Given the description of an element on the screen output the (x, y) to click on. 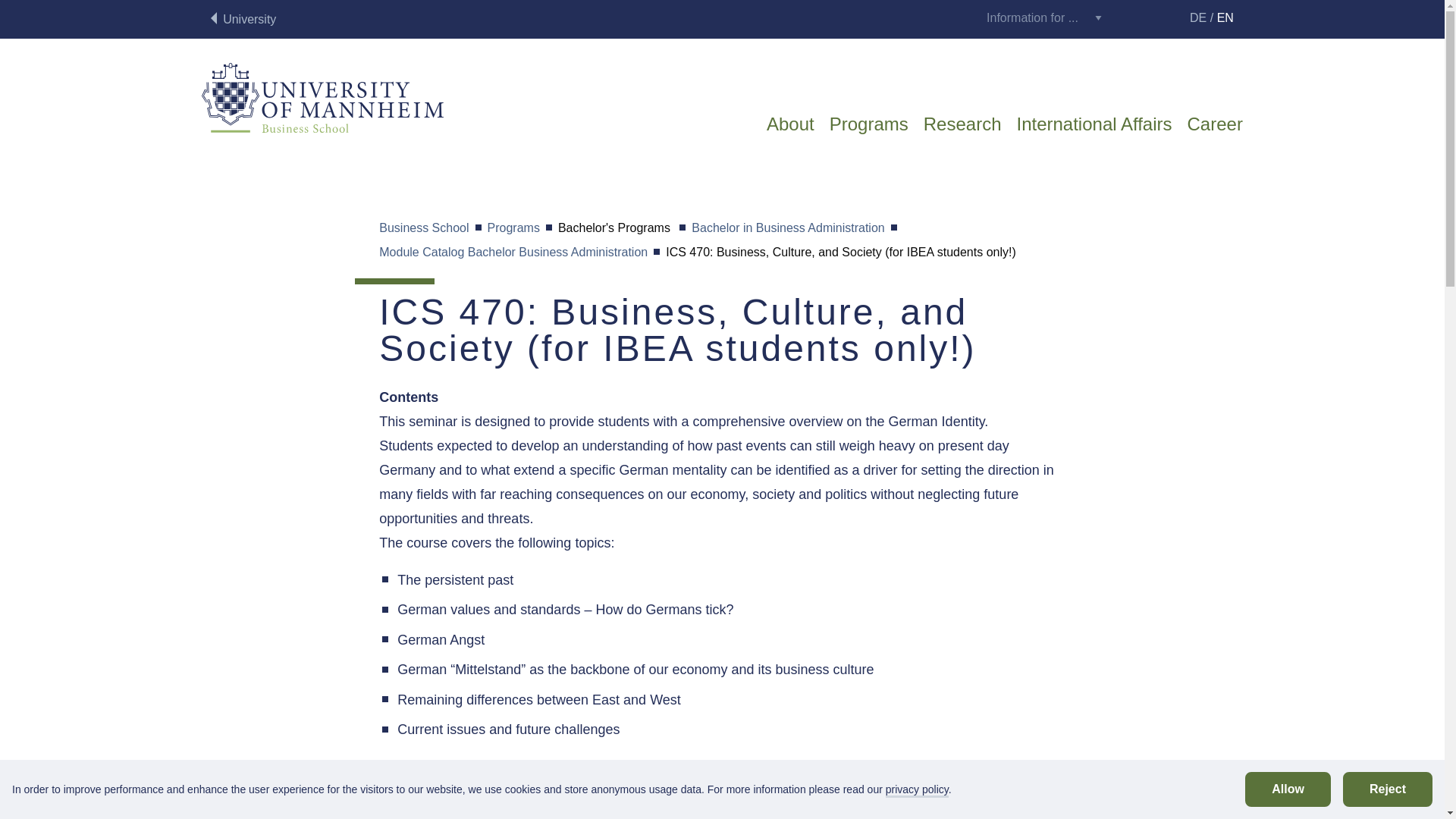
EN (1225, 18)
Bachelor in Business Administration (787, 228)
Search (1127, 20)
Accessibility (1162, 18)
University (243, 19)
Programs (868, 132)
Module Catalog Bachelor Business Administration (512, 253)
Business School (423, 228)
Programs (513, 228)
DE (1198, 17)
Search (1127, 17)
About (790, 132)
